Given the description of an element on the screen output the (x, y) to click on. 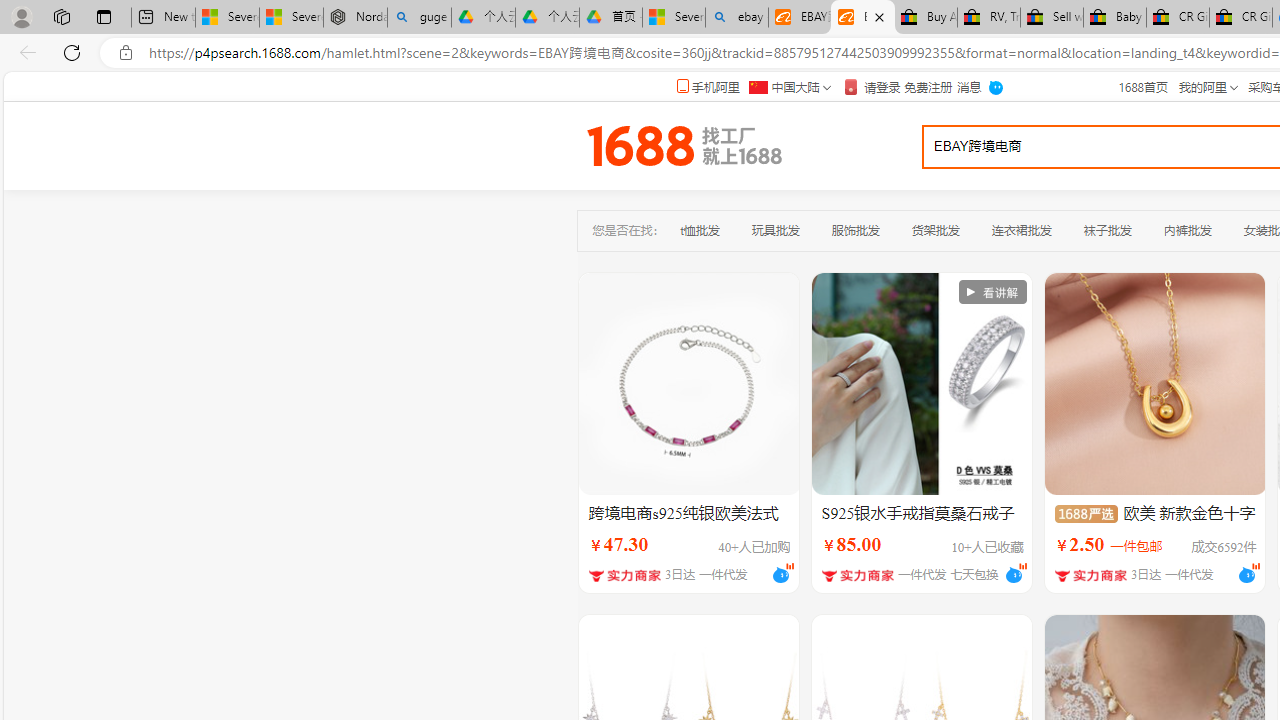
To get missing image descriptions, open the context menu. (991, 291)
